Given the description of an element on the screen output the (x, y) to click on. 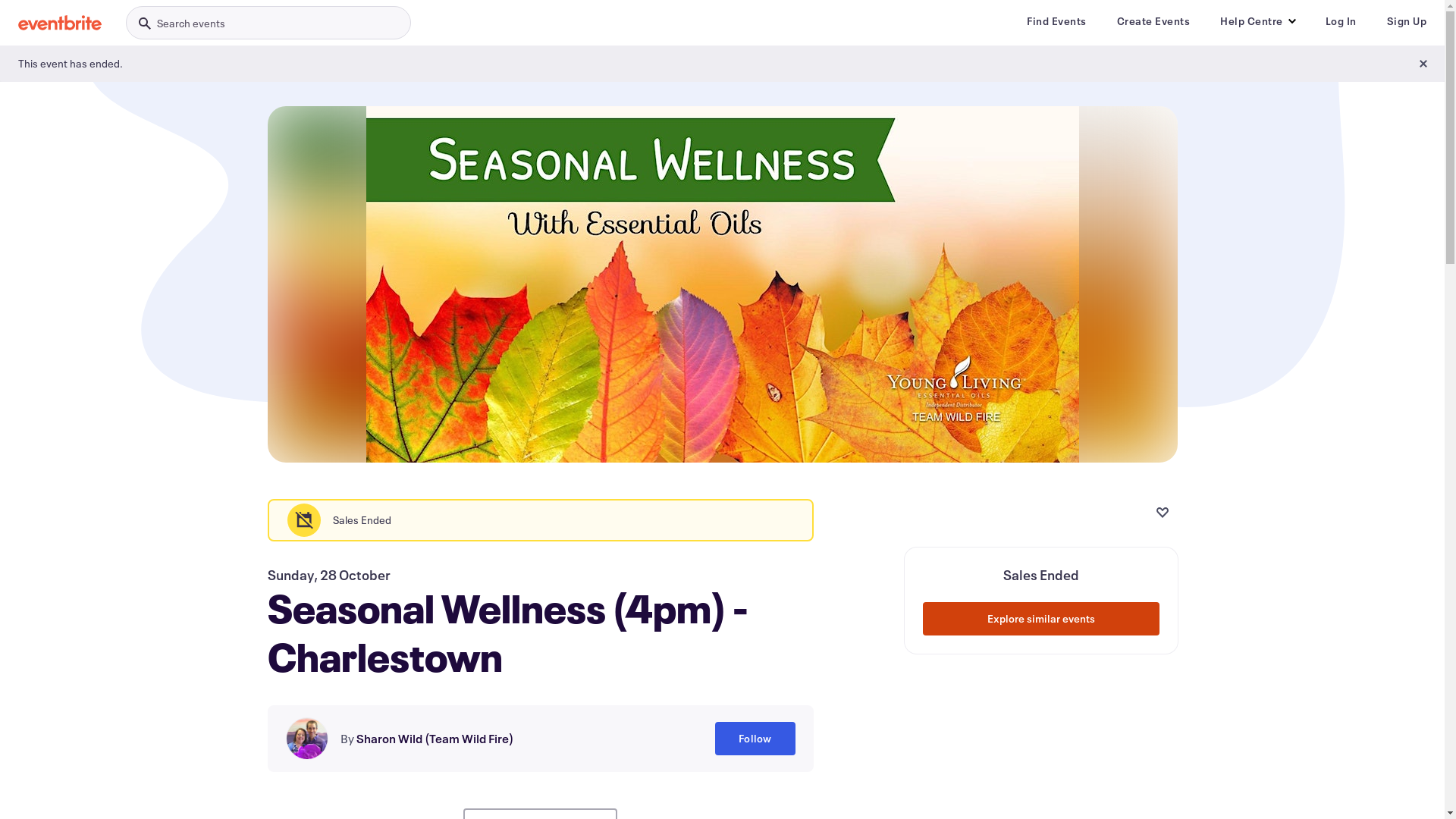
Find Events Element type: text (1056, 21)
Explore similar events Element type: text (1040, 618)
Log In Element type: text (1340, 21)
Eventbrite Element type: hover (59, 22)
Sign Up Element type: text (1406, 21)
Search events Element type: text (268, 22)
Create Events Element type: text (1152, 21)
Follow Element type: text (754, 738)
